Given the description of an element on the screen output the (x, y) to click on. 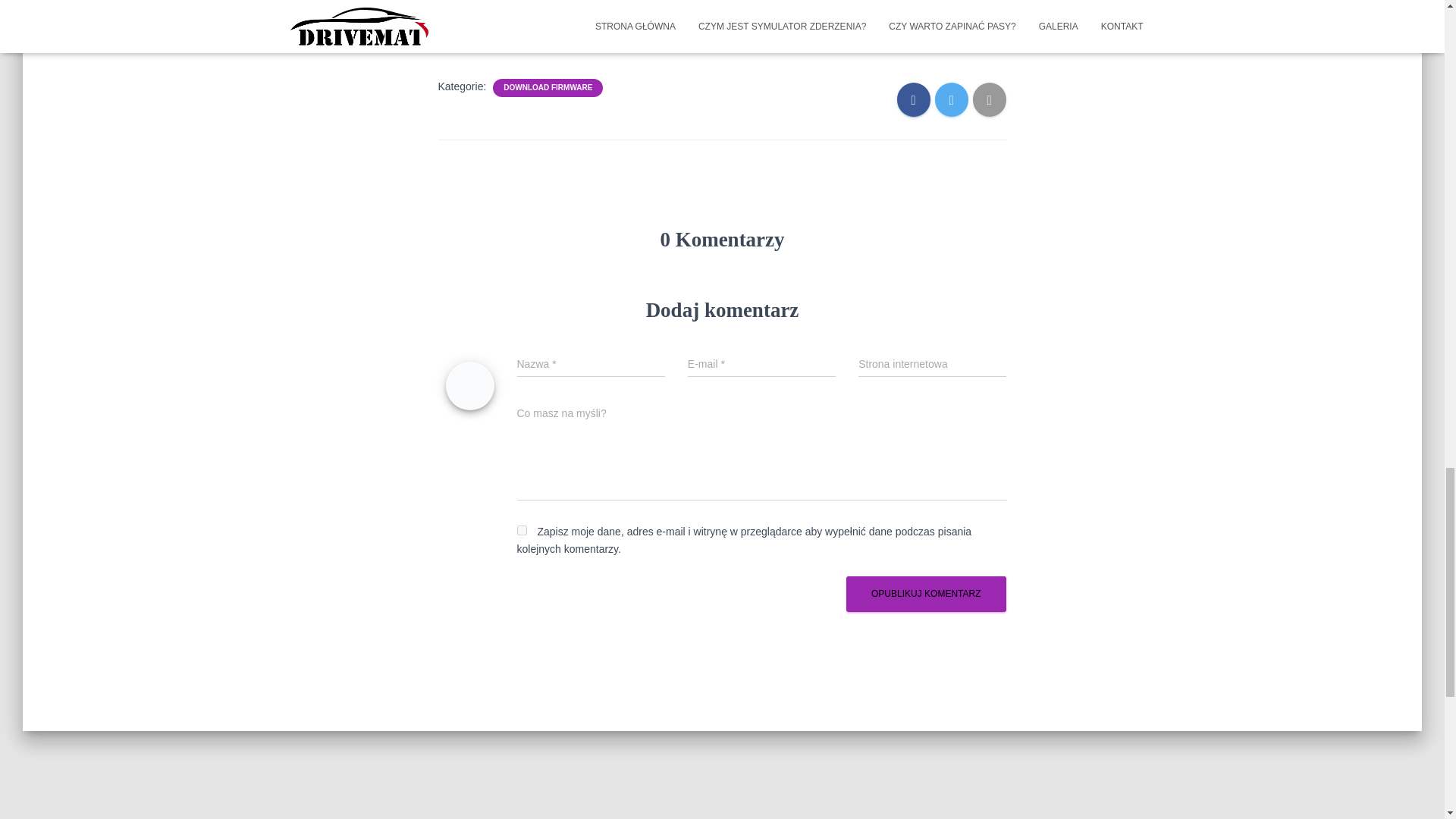
DOWNLOAD FIRMWARE (548, 87)
Opublikuj komentarz (925, 593)
yes (521, 530)
Opublikuj komentarz (925, 593)
